Given the description of an element on the screen output the (x, y) to click on. 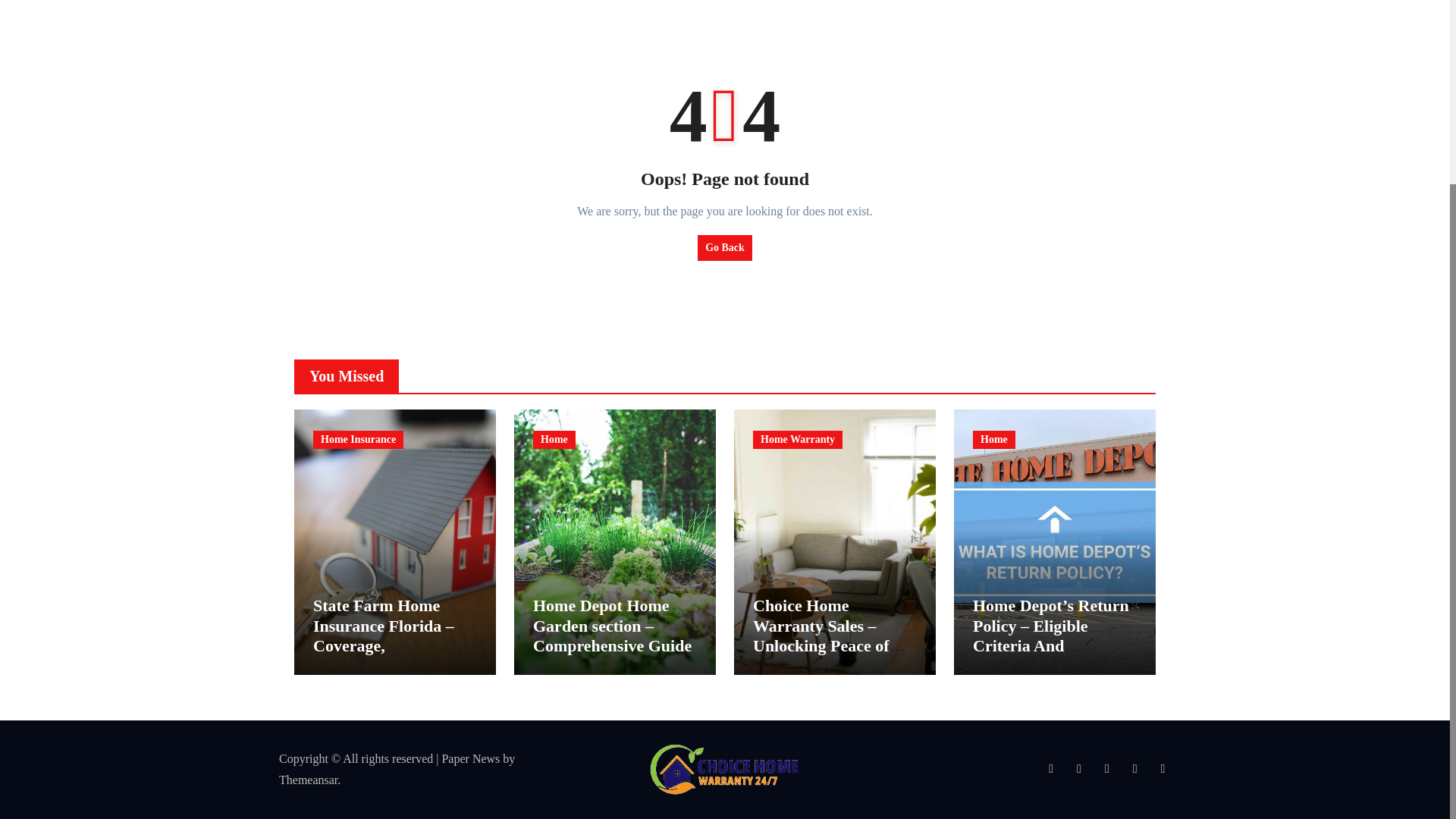
Themeansar (308, 779)
Home Warranty (797, 439)
Home (553, 439)
Home (993, 439)
Go Back (724, 248)
Paper News (470, 758)
Home Insurance (358, 439)
